Given the description of an element on the screen output the (x, y) to click on. 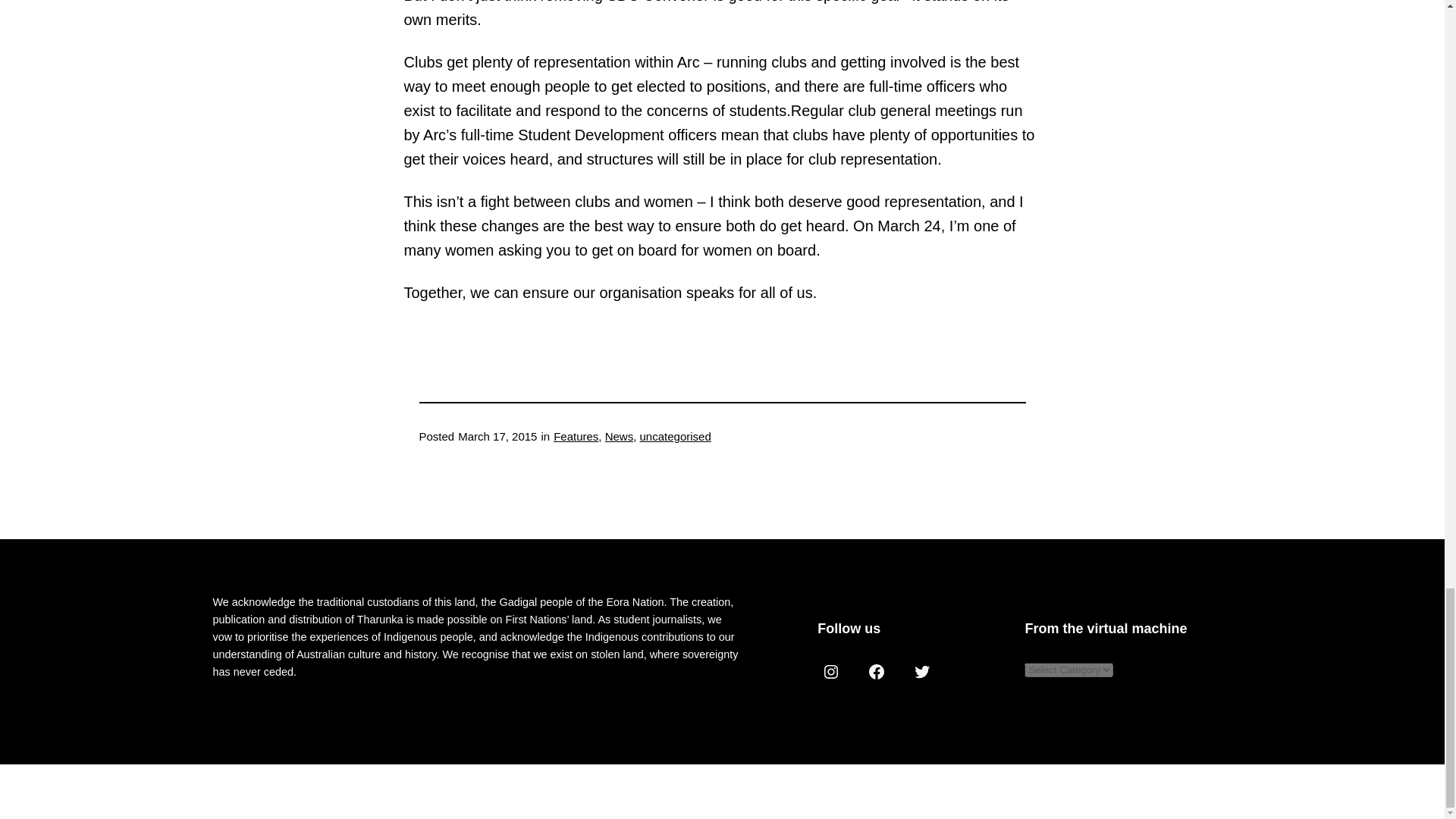
Features (575, 436)
Facebook (876, 671)
uncategorised (675, 436)
Instagram (830, 671)
News (619, 436)
Twitter (922, 671)
